Given the description of an element on the screen output the (x, y) to click on. 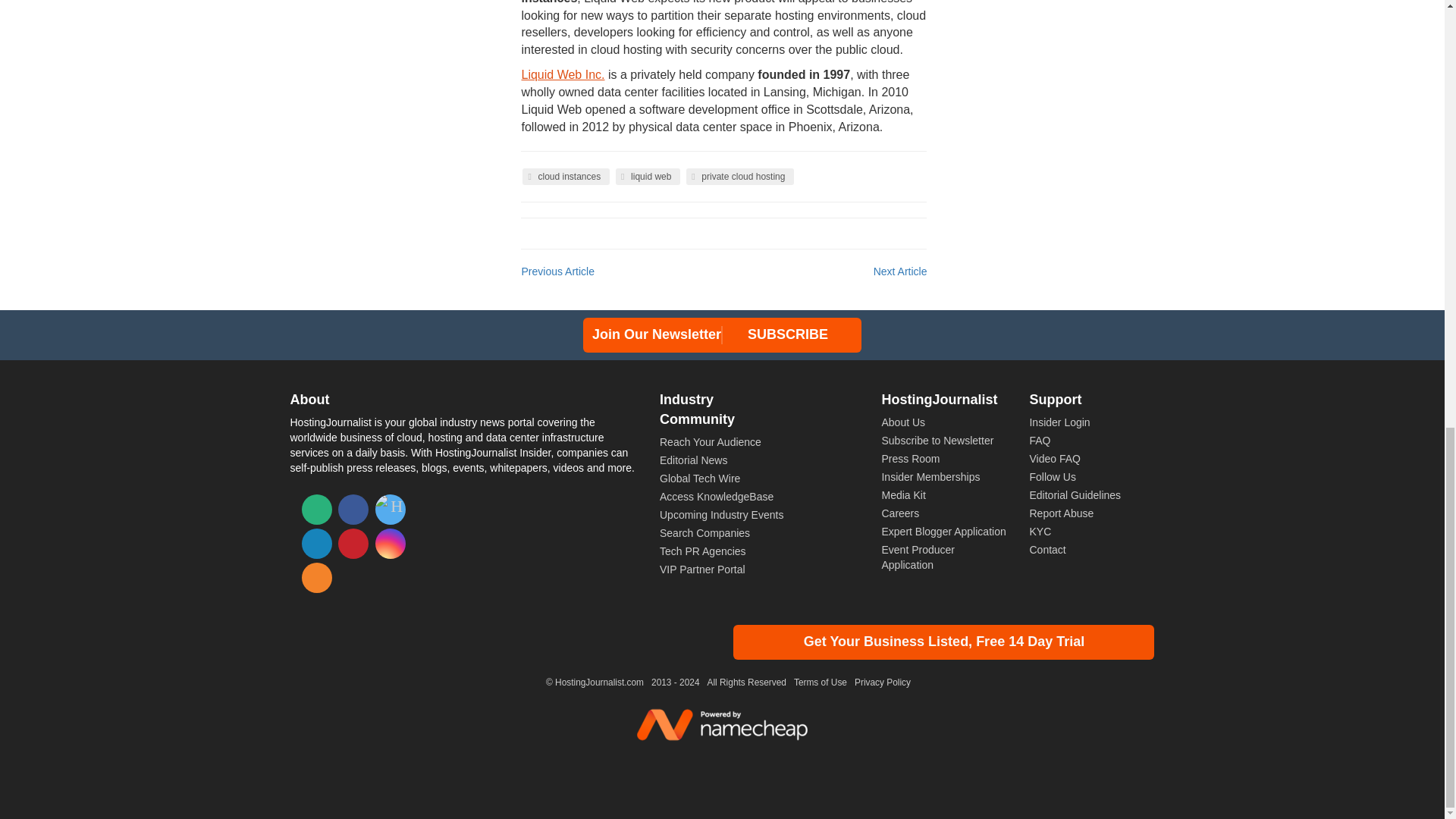
liquid-web (562, 74)
cloud instances HostingJournalist News (566, 176)
HostingJournalist.com Facebook (352, 509)
HostingJournalist.com RSS (316, 577)
Contact Us HostingJournalist.com (316, 509)
 liquid web HostingJournalist News (647, 176)
 private cloud hosting HostingJournalist News (739, 176)
HostingJournalist.com X (390, 509)
HostingJournalist.com Instagram (390, 543)
